Given the description of an element on the screen output the (x, y) to click on. 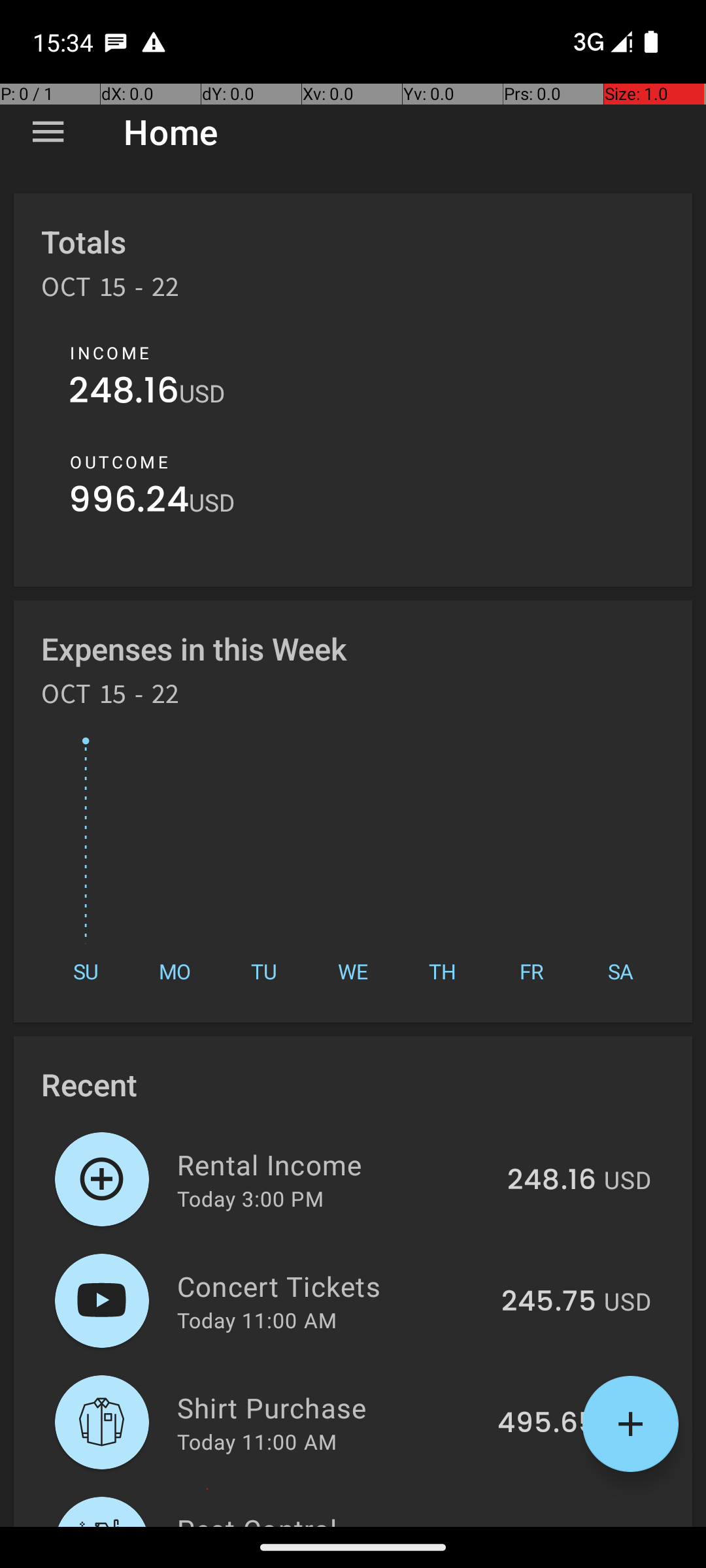
248.16 Element type: android.widget.TextView (123, 393)
996.24 Element type: android.widget.TextView (128, 502)
Rental Income Element type: android.widget.TextView (334, 1164)
Today 3:00 PM Element type: android.widget.TextView (250, 1198)
Concert Tickets Element type: android.widget.TextView (331, 1285)
Today 11:00 AM Element type: android.widget.TextView (256, 1320)
245.75 Element type: android.widget.TextView (548, 1301)
Shirt Purchase Element type: android.widget.TextView (329, 1407)
495.65 Element type: android.widget.TextView (546, 1423)
Pest Control Element type: android.widget.TextView (338, 1518)
125.01 Element type: android.widget.TextView (555, 1524)
